Given the description of an element on the screen output the (x, y) to click on. 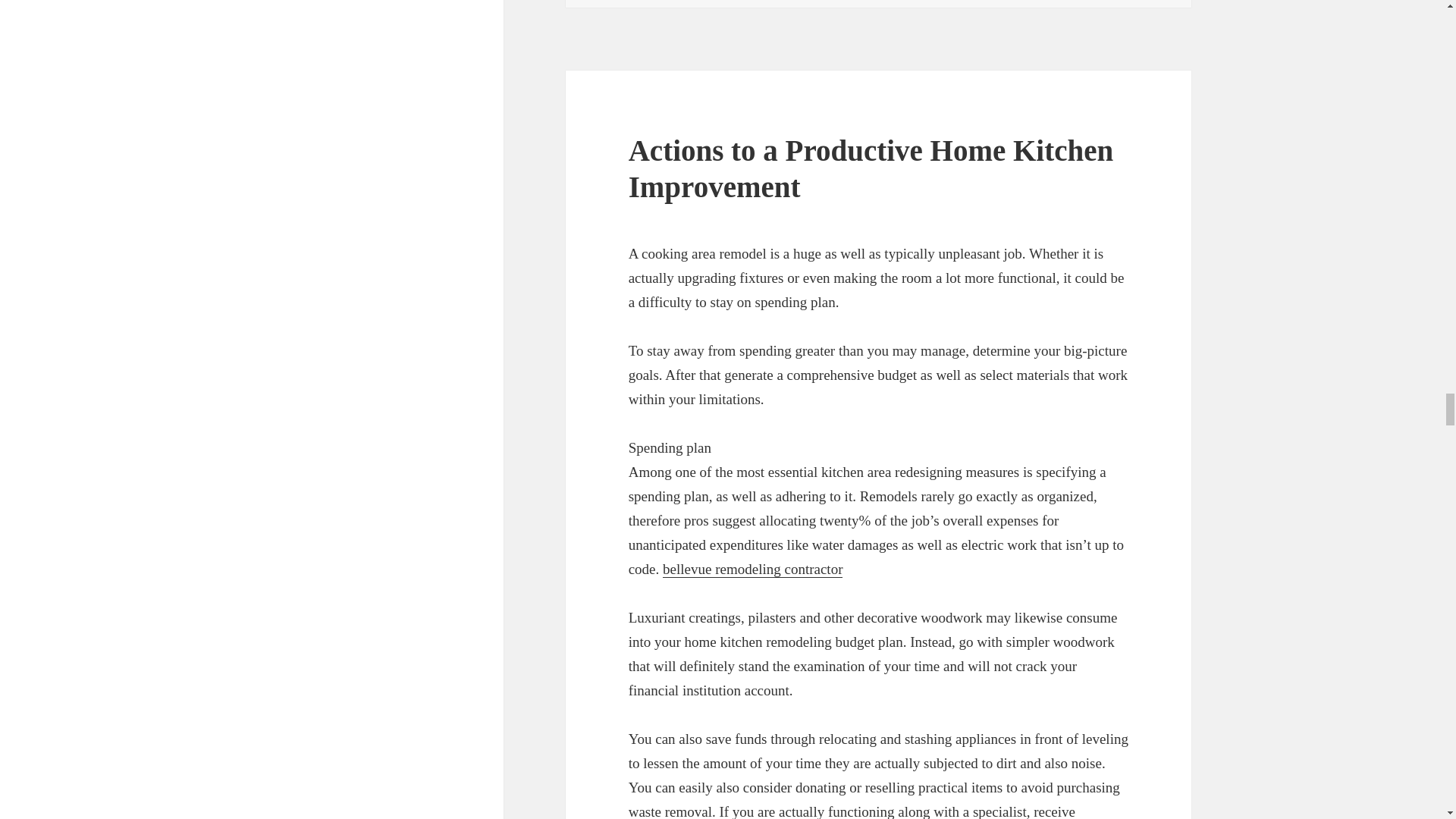
bellevue remodeling contractor (752, 569)
Actions to a Productive Home Kitchen Improvement (870, 168)
